Given the description of an element on the screen output the (x, y) to click on. 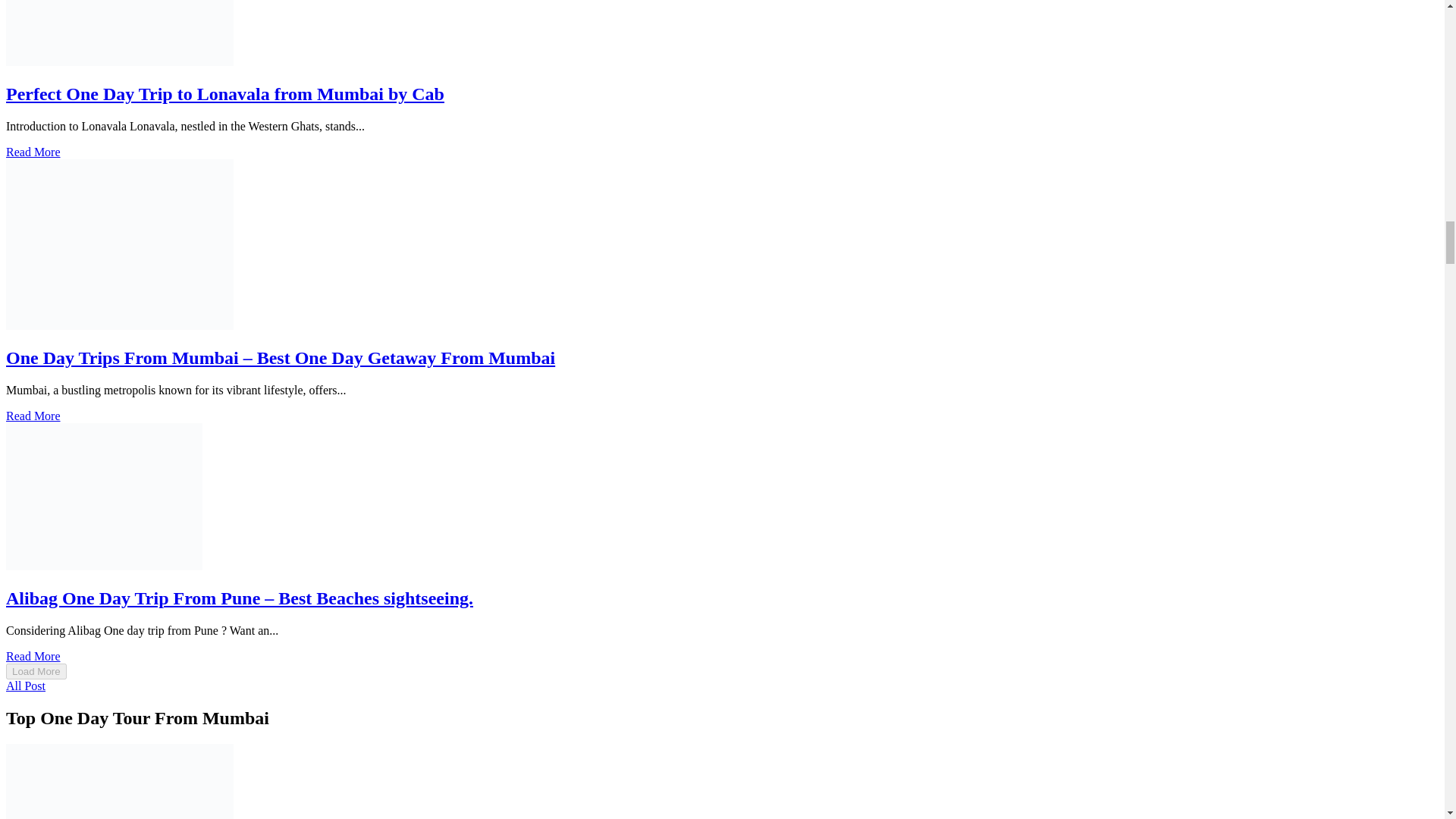
All Post (25, 685)
Perfect One Day Trip to Lonavala from Mumbai by Cab (224, 94)
Load More (35, 671)
Read More (33, 151)
Read More (33, 415)
Perfect One Day Trip to Lonavala from Mumbai by Cab (224, 94)
Read More (33, 656)
